Given the description of an element on the screen output the (x, y) to click on. 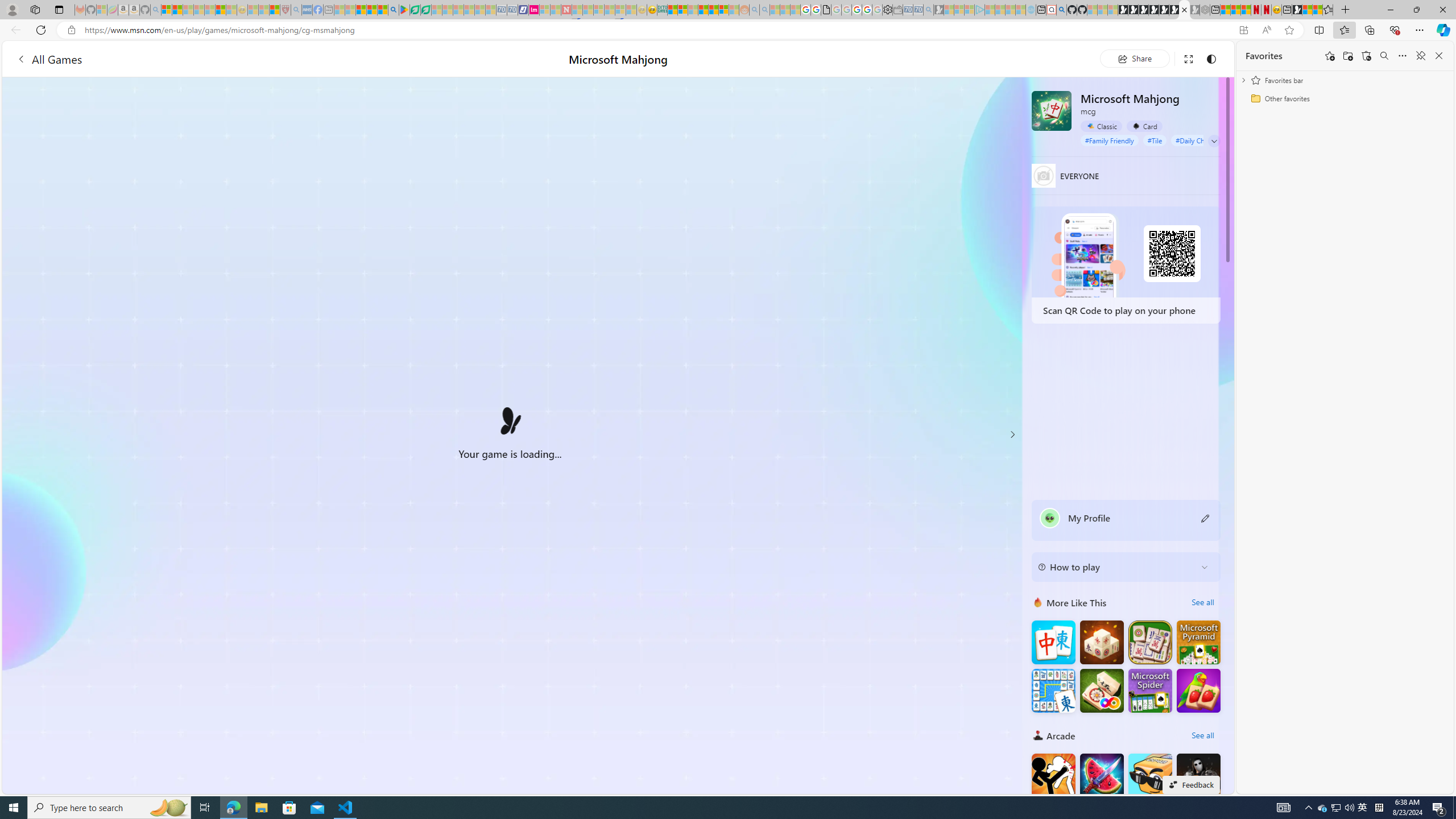
Mahjong 3D Connect (1101, 642)
EVERYONE (1043, 175)
